Given the description of an element on the screen output the (x, y) to click on. 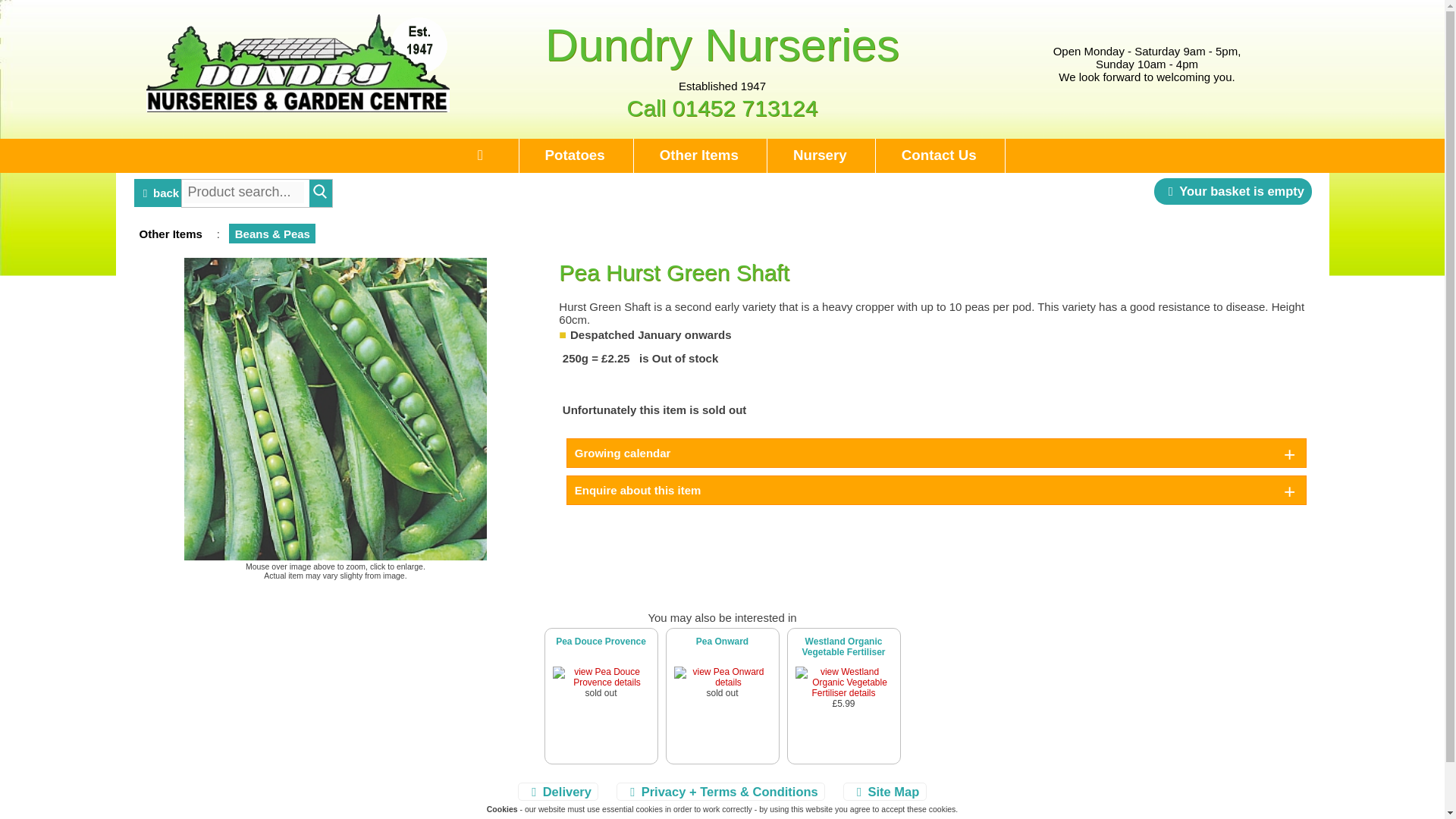
01452 713124 (745, 107)
Nursery (819, 155)
Contact Us (938, 155)
Pea Douce Provence (601, 641)
back (157, 182)
Westland Organic Vegetable Fertiliser (843, 646)
Delivery (558, 791)
Potatoes (574, 155)
Pea Onward (721, 641)
Site Map (884, 791)
